Given the description of an element on the screen output the (x, y) to click on. 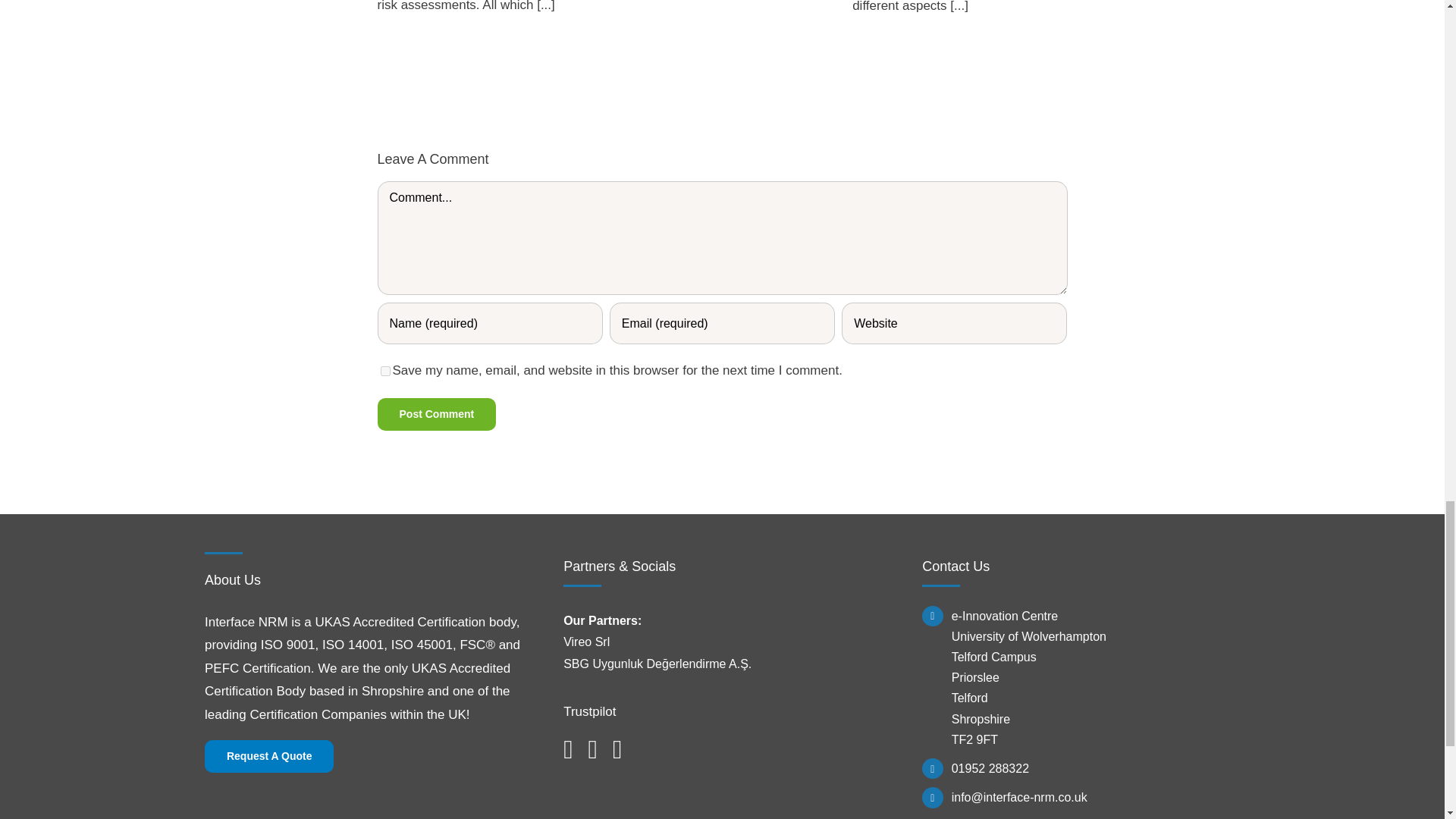
Post Comment (436, 414)
yes (385, 370)
